Given the description of an element on the screen output the (x, y) to click on. 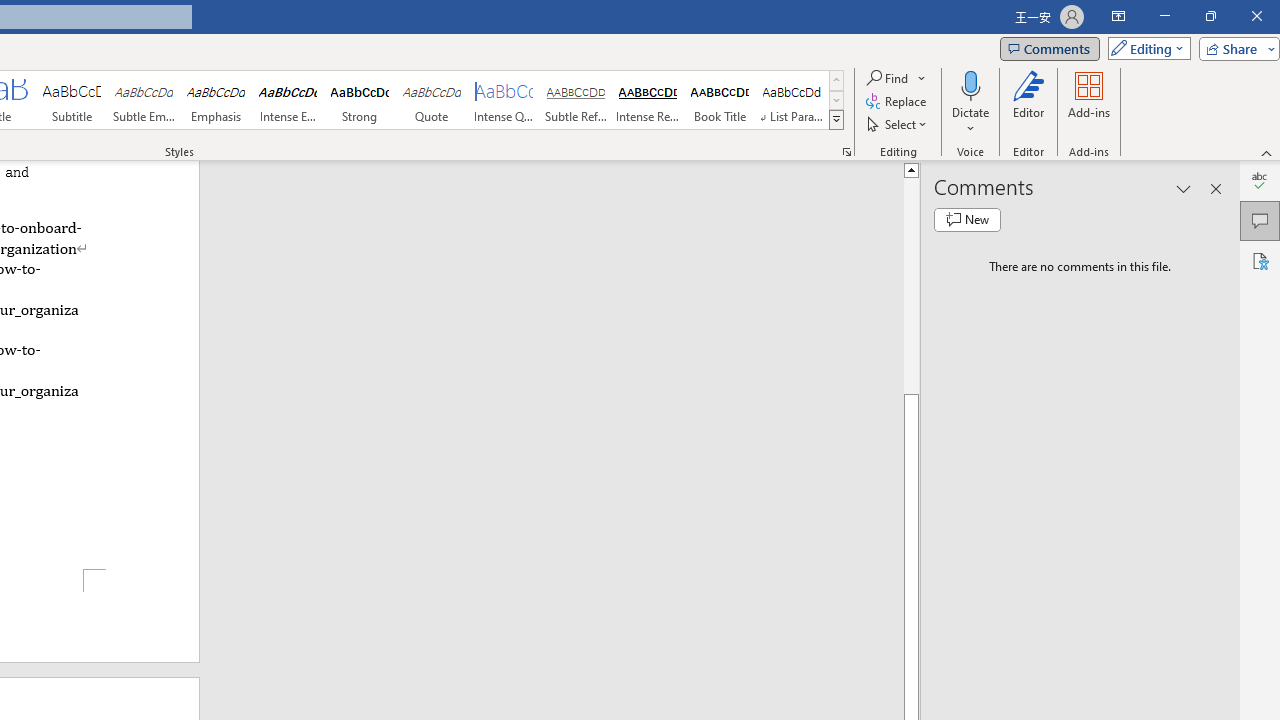
Subtle Reference (575, 100)
Styles... (846, 151)
Strong (359, 100)
